Given the description of an element on the screen output the (x, y) to click on. 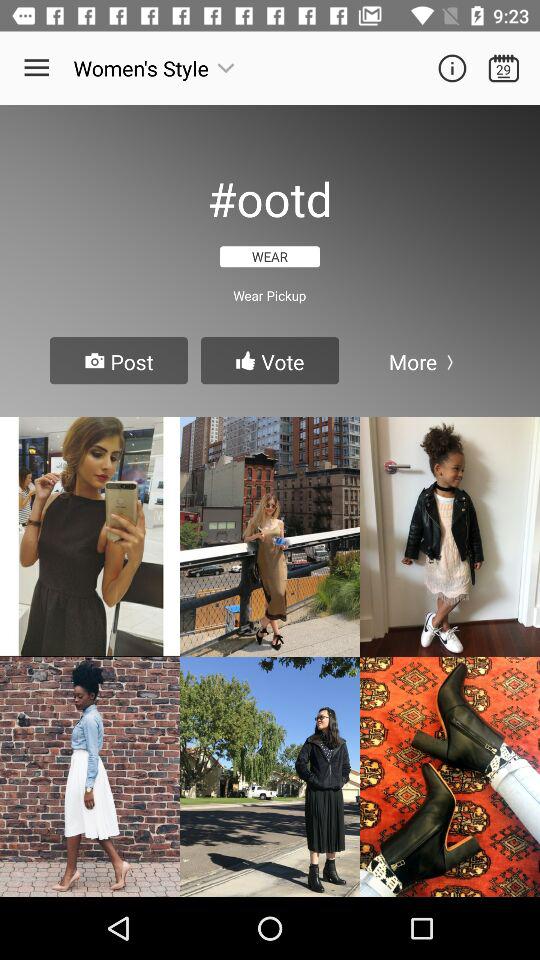
add to calendar (503, 68)
